Given the description of an element on the screen output the (x, y) to click on. 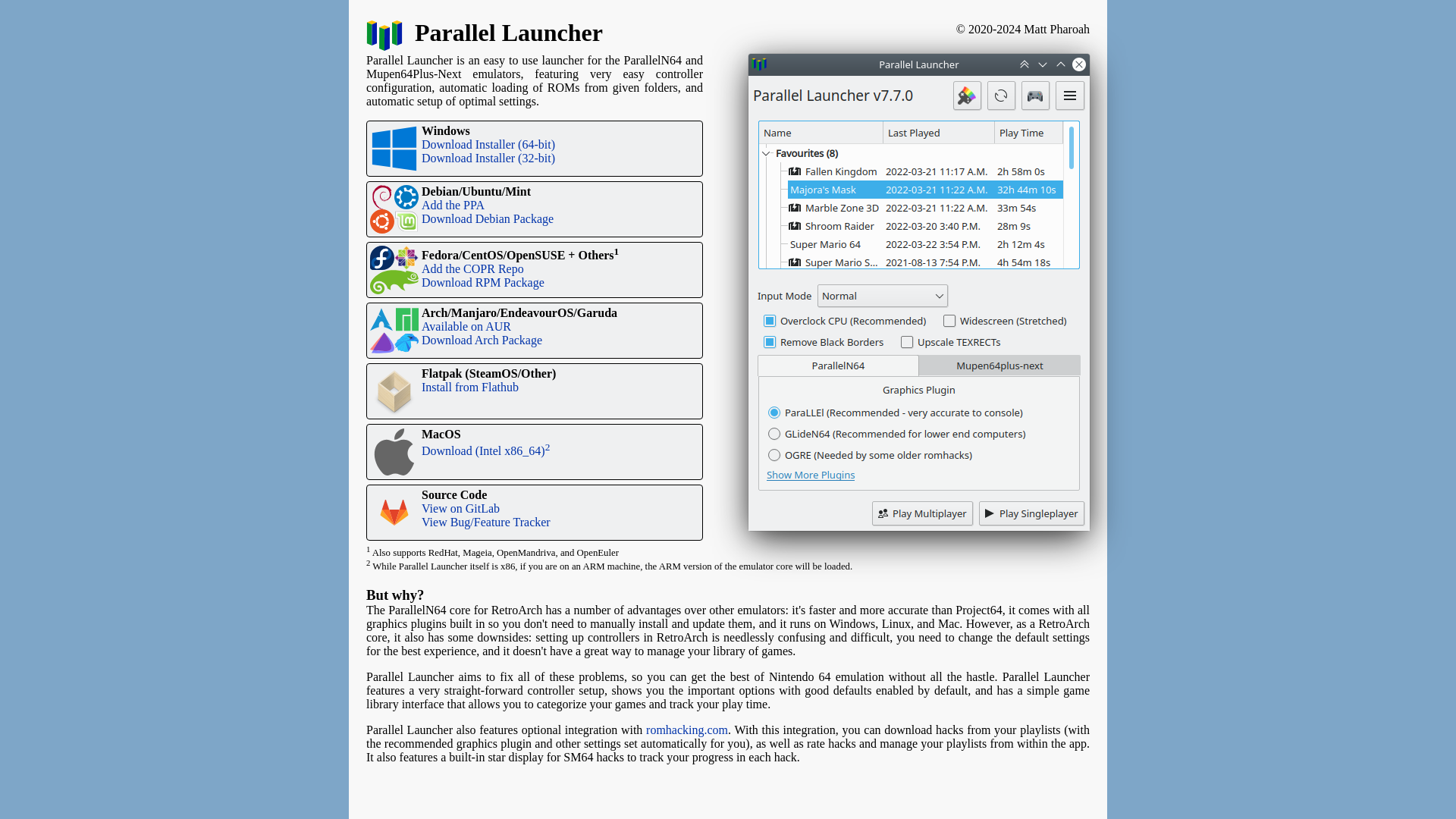
Download Arch Package (481, 339)
Install from Flathub (470, 386)
Add the COPR Repo (473, 268)
Download Debian Package (487, 218)
Add the PPA (453, 205)
Available on AUR (466, 326)
romhacking.com (687, 729)
Download RPM Package (483, 282)
View on GitLab (460, 508)
